Given the description of an element on the screen output the (x, y) to click on. 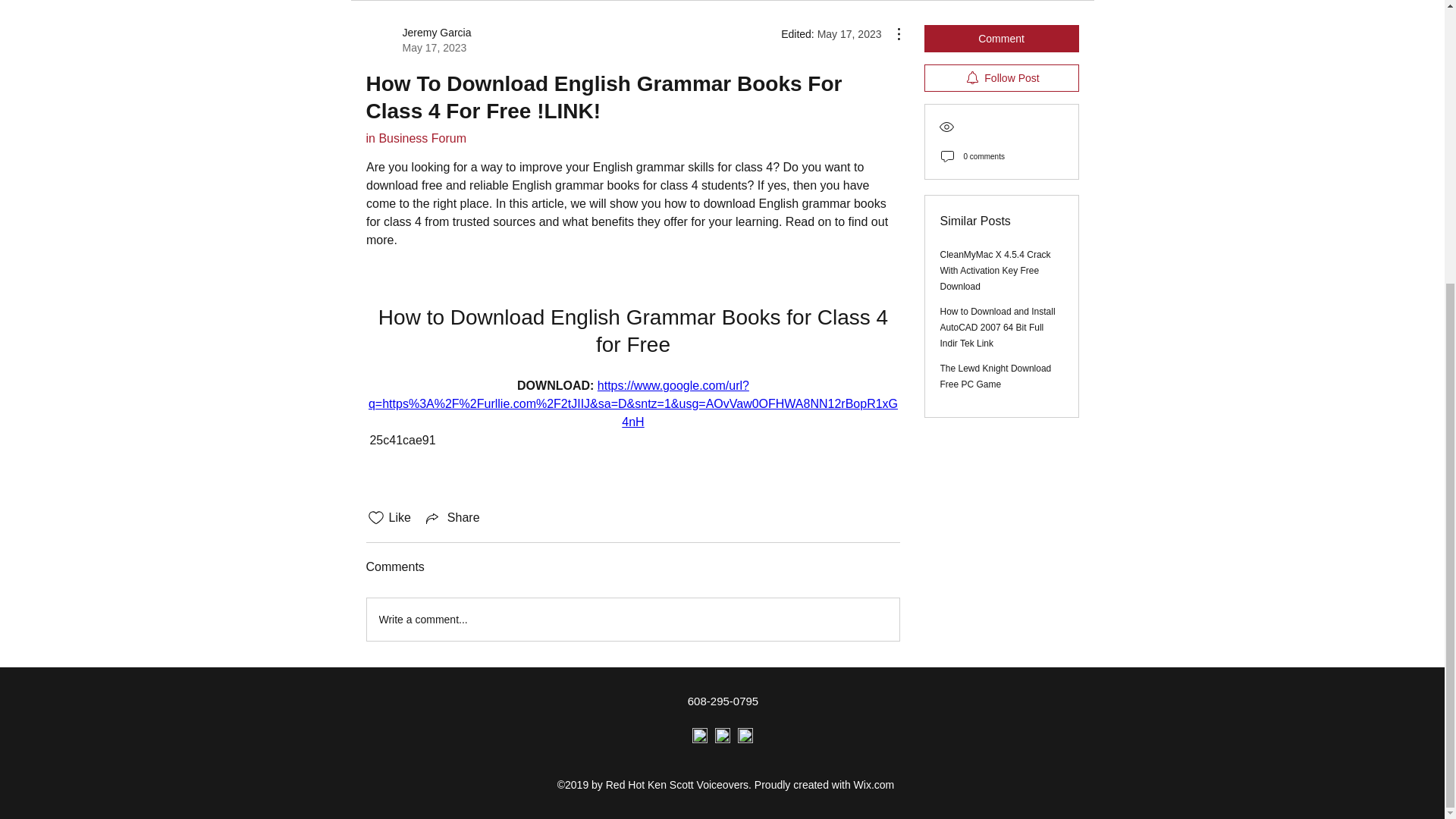
CleanMyMac X 4.5.4 Crack With Activation Key Free Download (995, 270)
The Lewd Knight Download Free PC Game (995, 376)
in Business Forum (415, 137)
Comment (1000, 38)
Share (417, 40)
Follow Post (451, 517)
Write a comment... (1000, 77)
